Given the description of an element on the screen output the (x, y) to click on. 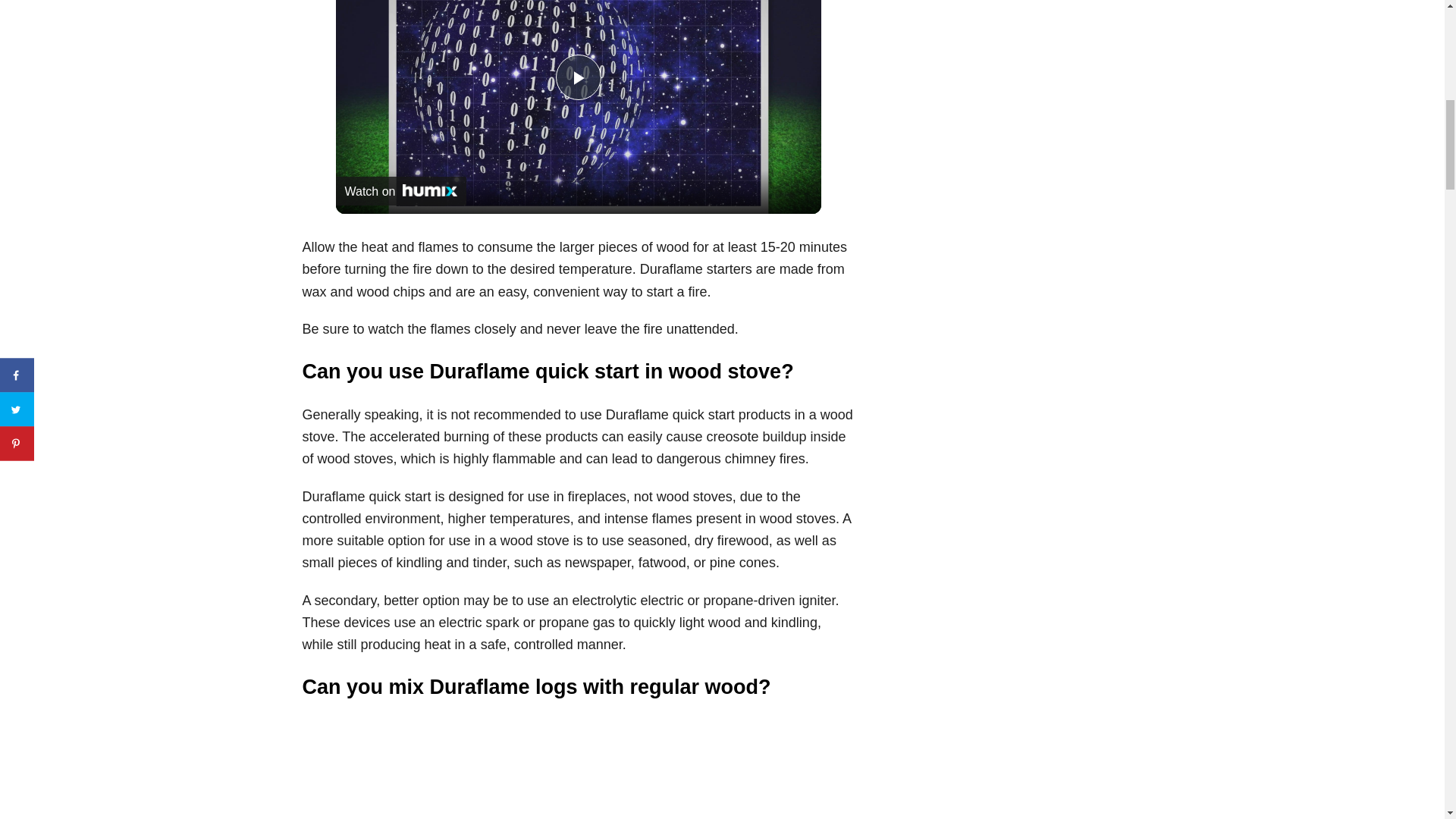
Play Video (576, 76)
Watch on (399, 190)
YouTube player (577, 769)
Play Video (576, 76)
